Given the description of an element on the screen output the (x, y) to click on. 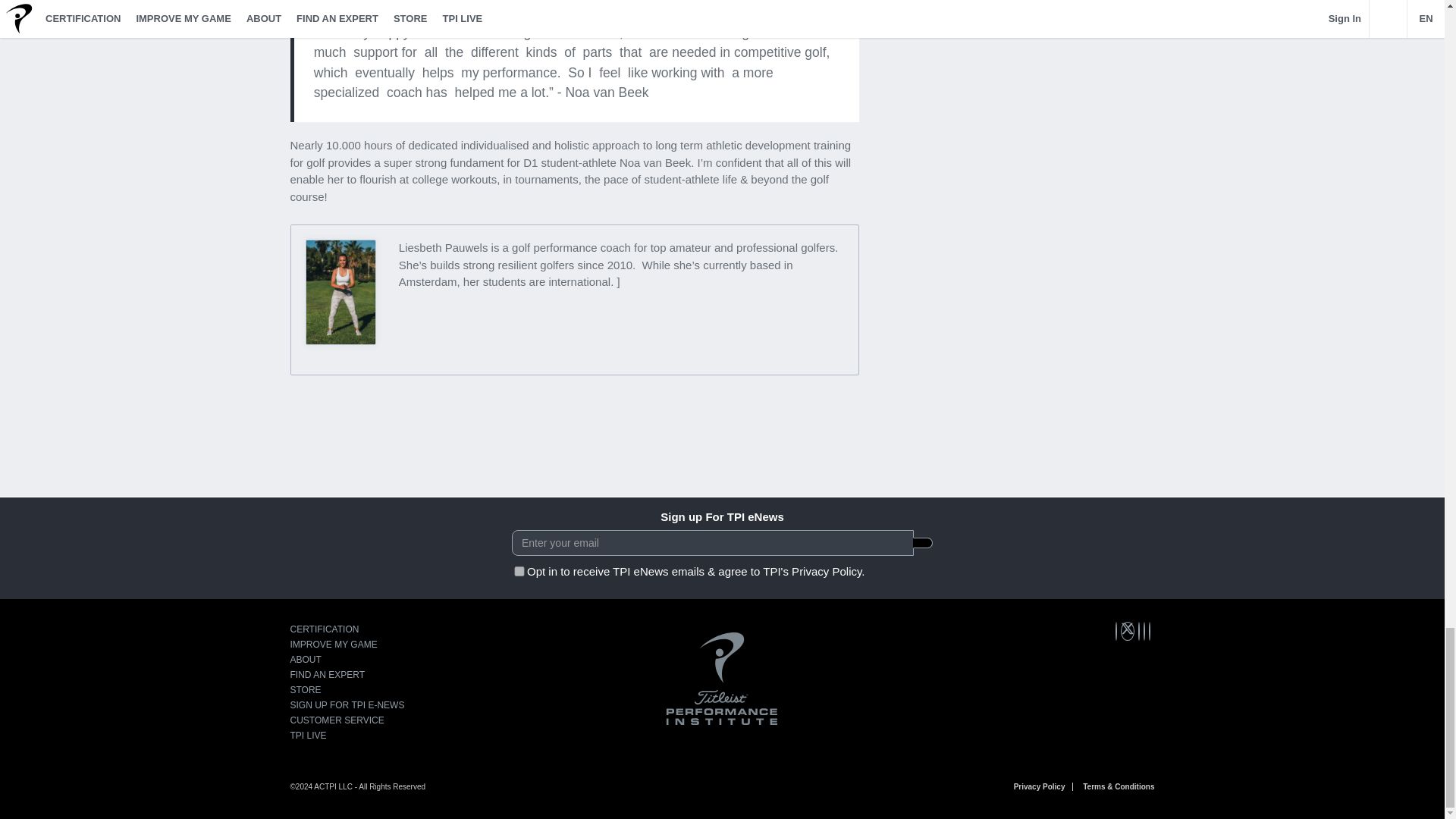
CERTIFICATION (323, 629)
on (519, 571)
